Given the description of an element on the screen output the (x, y) to click on. 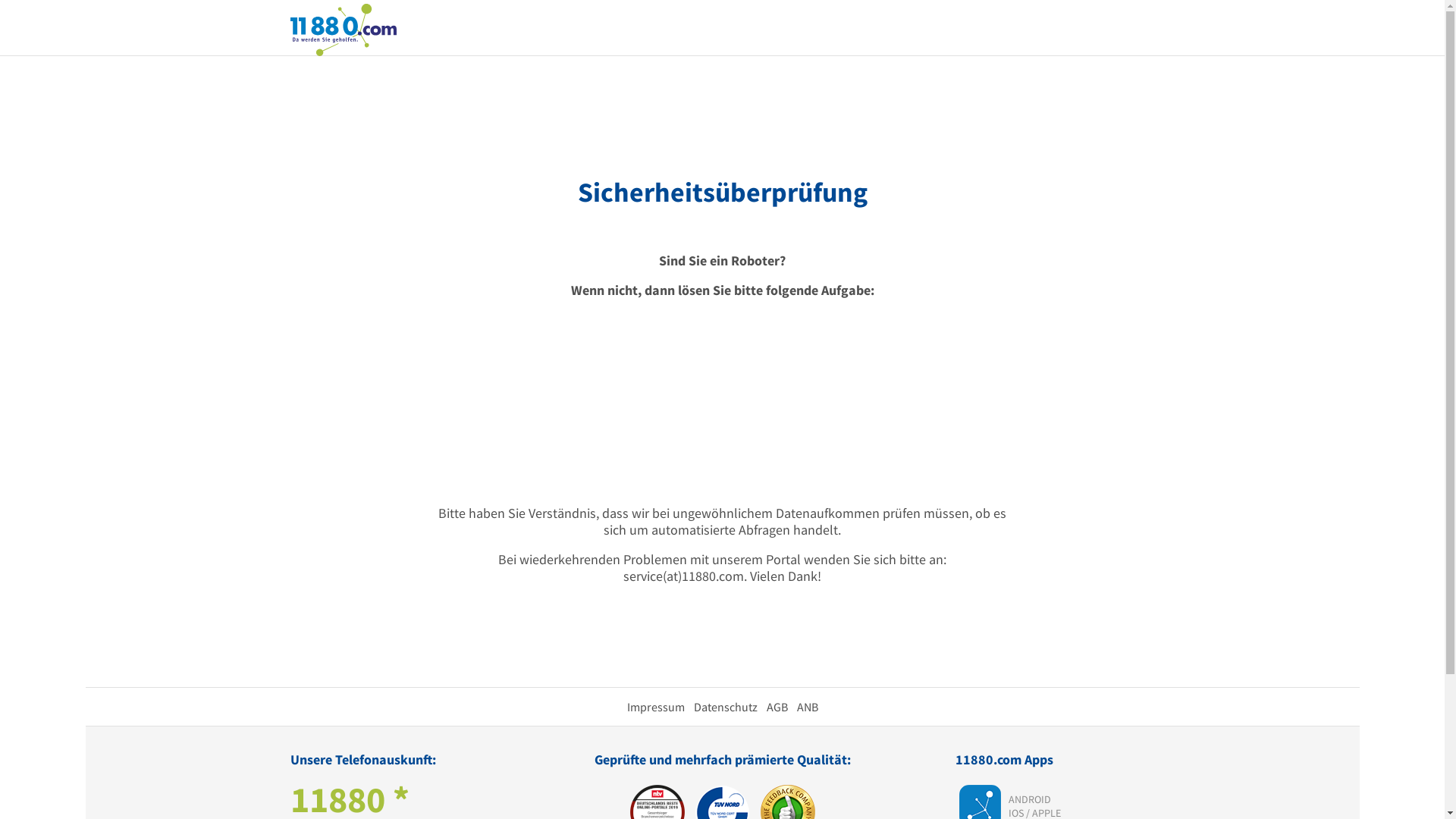
ANB Element type: text (806, 706)
Impressum Element type: text (655, 706)
AGB Element type: text (776, 706)
Datenschutz Element type: text (724, 706)
11880.com Element type: hover (342, 28)
